Given the description of an element on the screen output the (x, y) to click on. 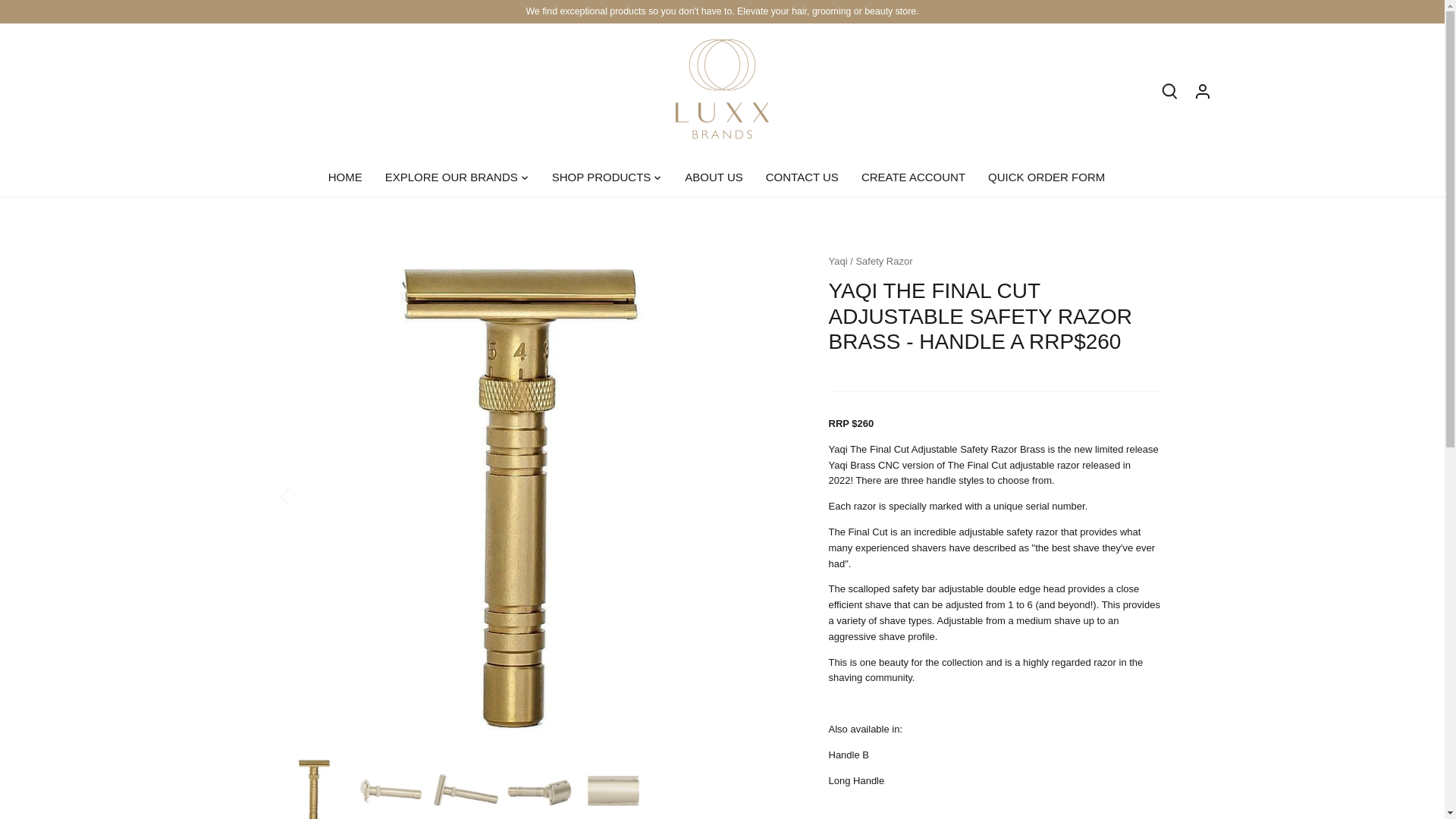
SHOP PRODUCTS (601, 177)
QUICK ORDER FORM (1046, 177)
EXPLORE OUR BRANDS (451, 177)
CONTACT US (802, 177)
CREATE ACCOUNT (913, 177)
HOME (351, 177)
ABOUT US (713, 177)
